Given the description of an element on the screen output the (x, y) to click on. 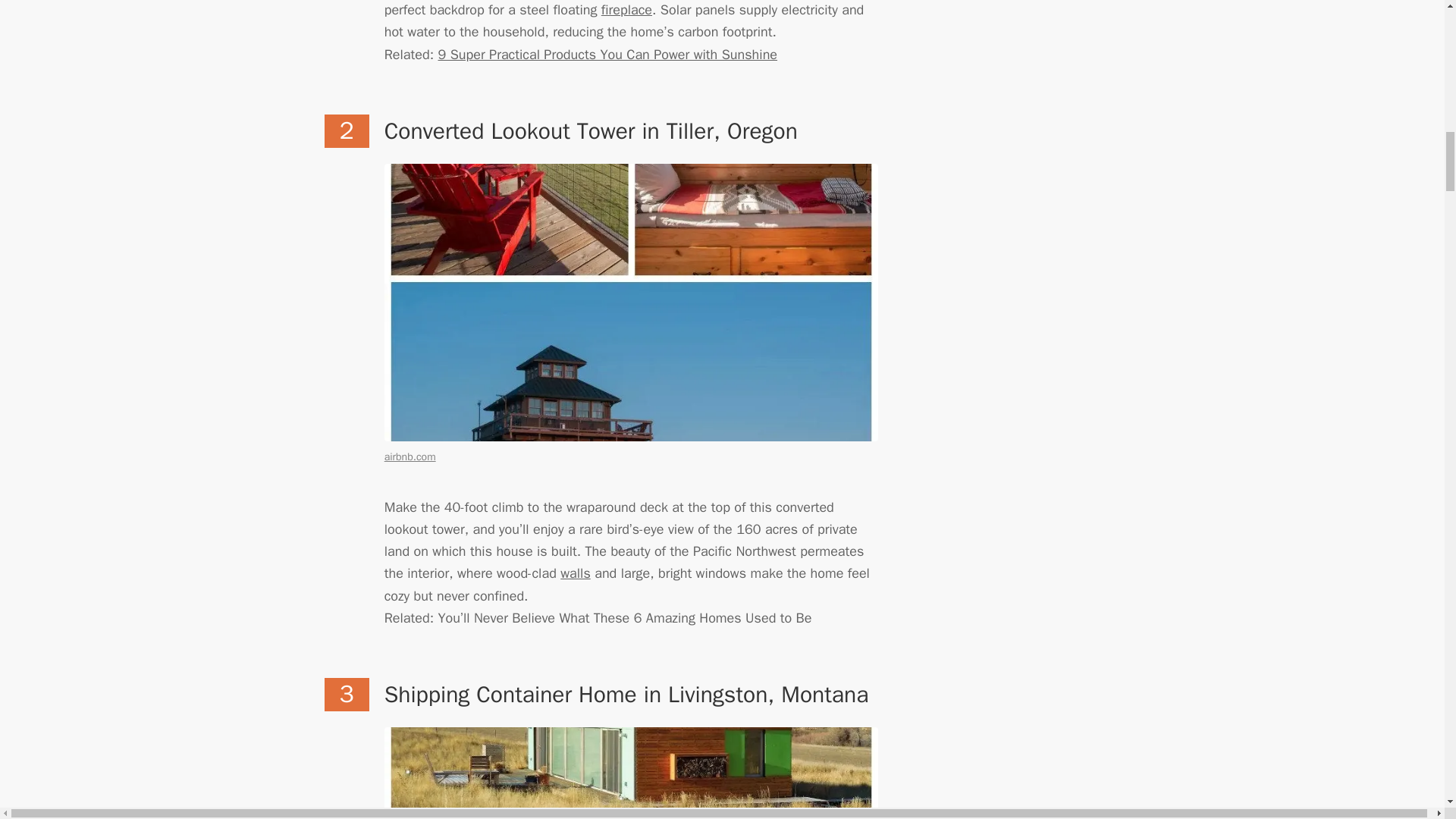
Solar Power Systems 101 (607, 54)
